Given the description of an element on the screen output the (x, y) to click on. 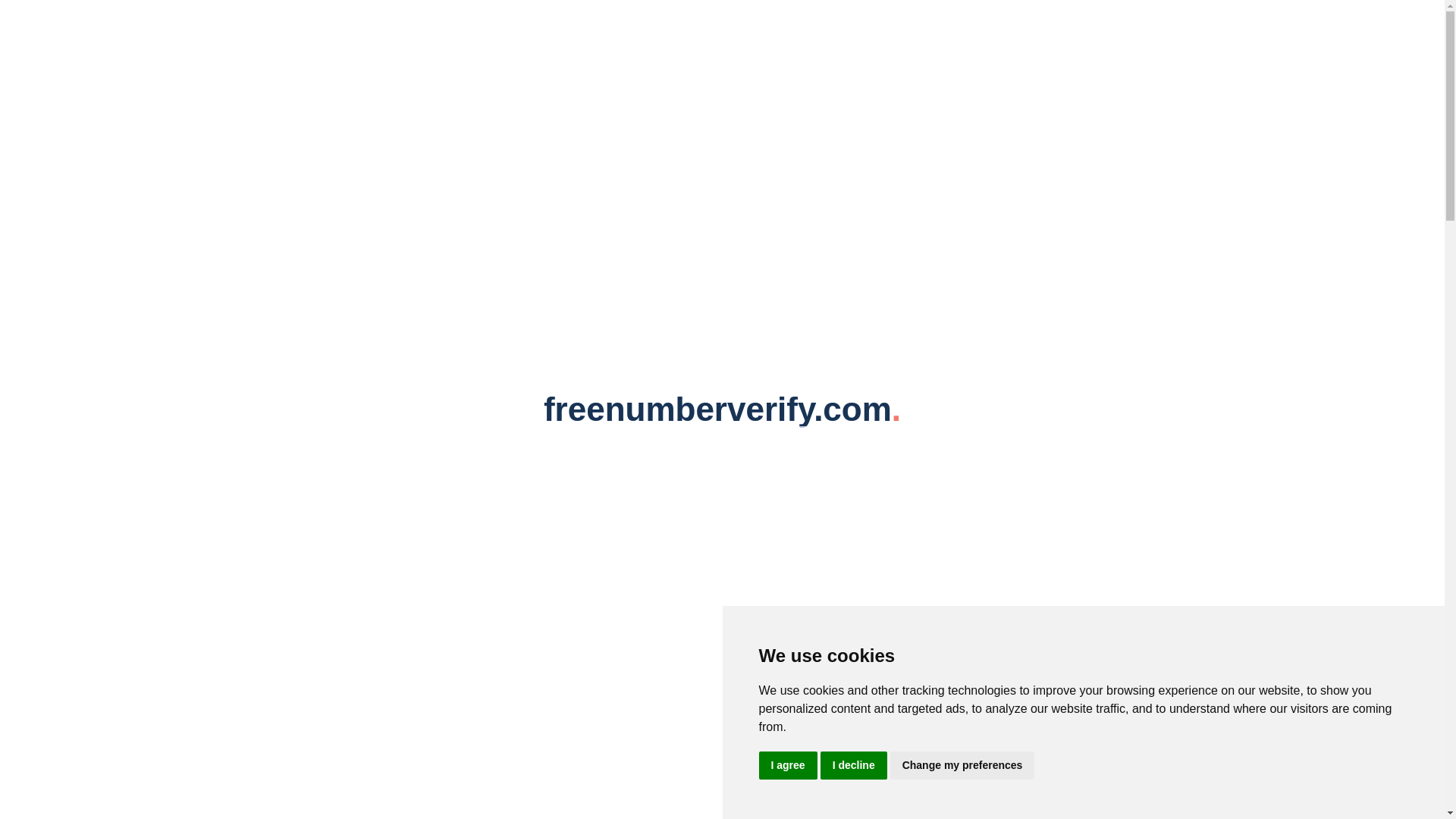
Change my preferences (962, 765)
Portada (325, 285)
I agree (787, 765)
Contacto (541, 285)
Blog (402, 285)
I decline (853, 765)
